Given the description of an element on the screen output the (x, y) to click on. 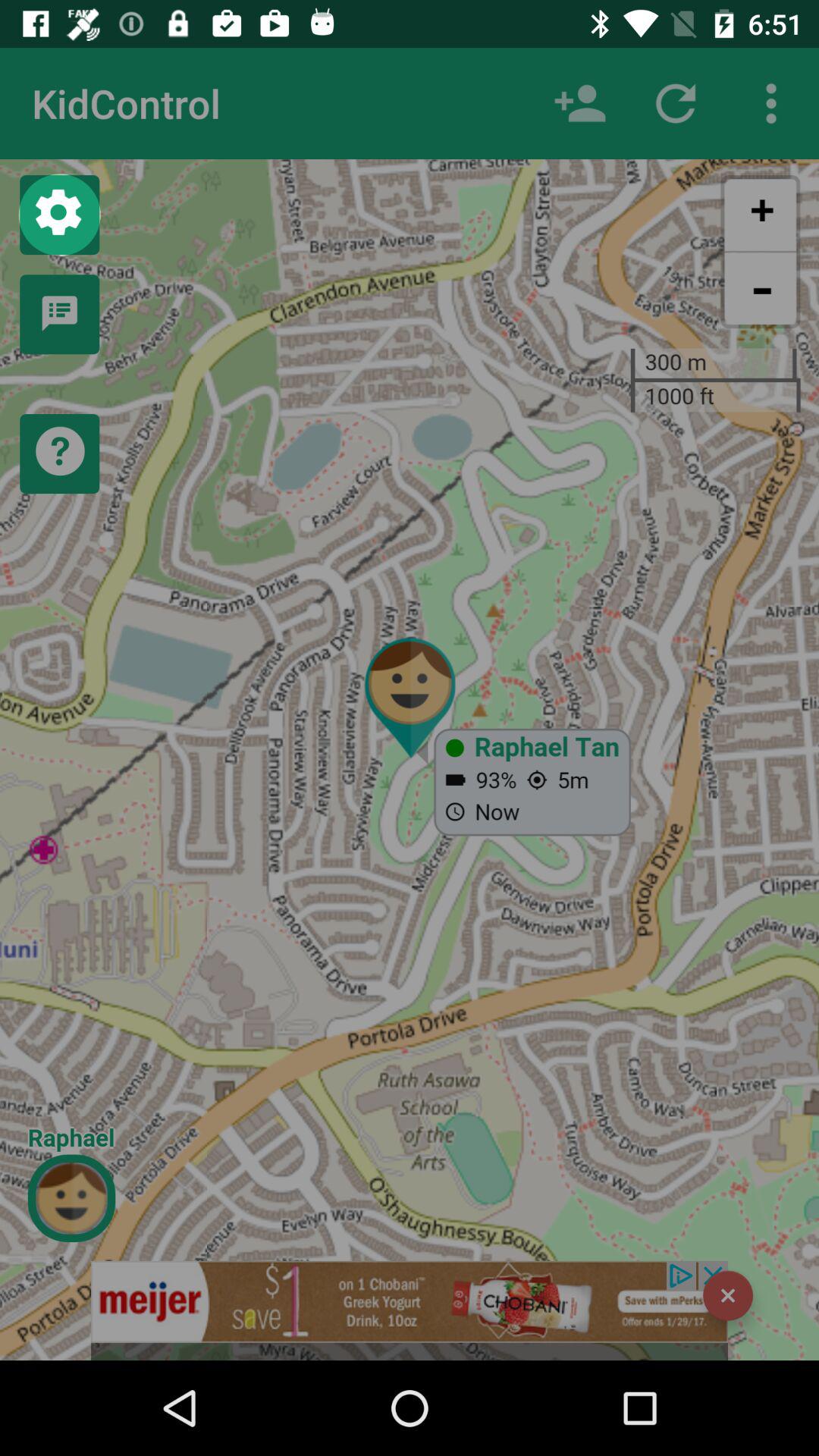
add a person (579, 103)
